Given the description of an element on the screen output the (x, y) to click on. 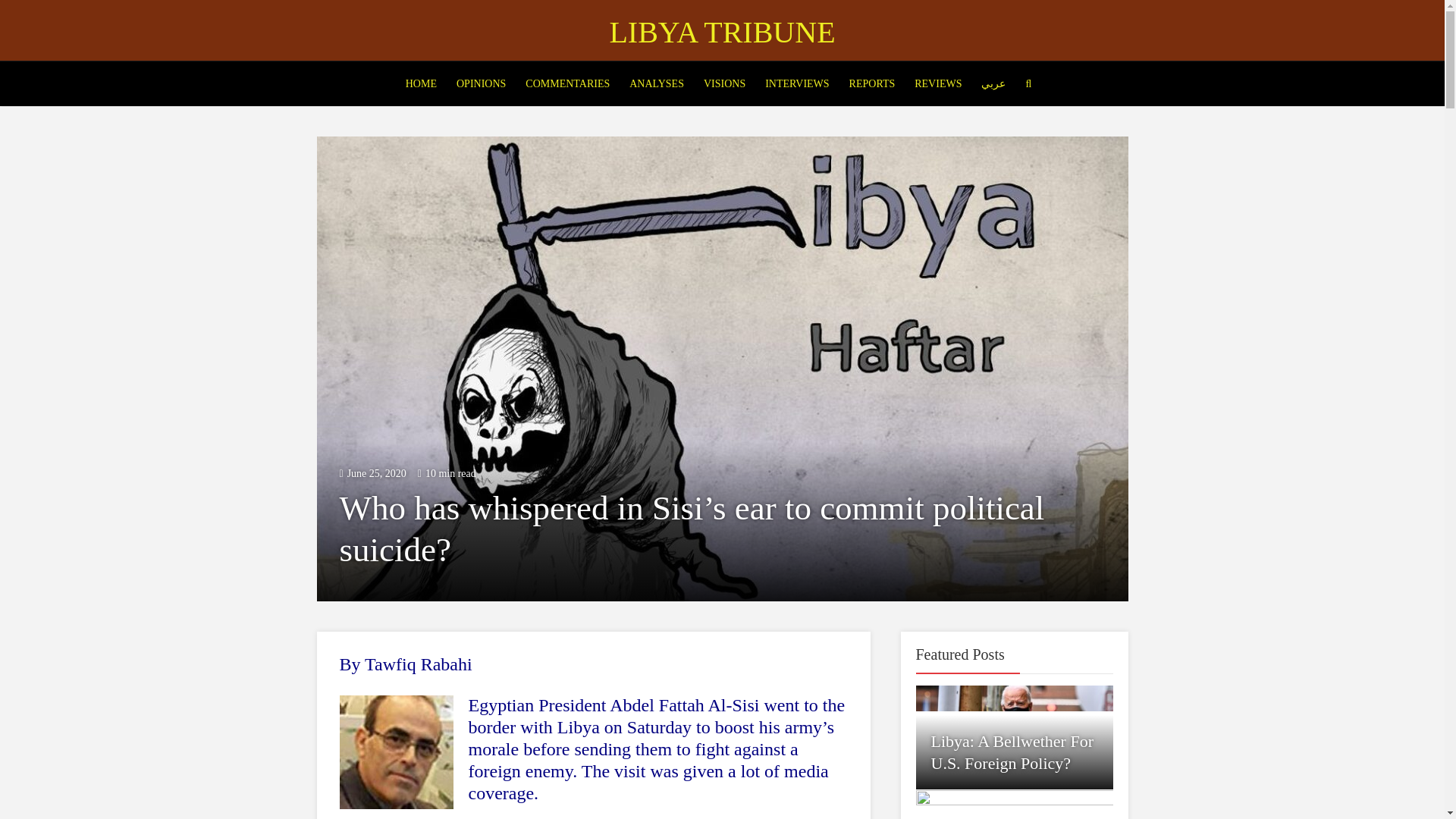
OPINIONS (481, 84)
ANALYSES (656, 84)
REVIEWS (937, 84)
COMMENTARIES (566, 84)
VISIONS (724, 84)
INTERVIEWS (796, 84)
REPORTS (872, 84)
Libya: A Bellwether For U.S. Foreign Policy? (1012, 752)
LIBYA TRIBUNE (721, 32)
Libya Tribune (721, 32)
